Given the description of an element on the screen output the (x, y) to click on. 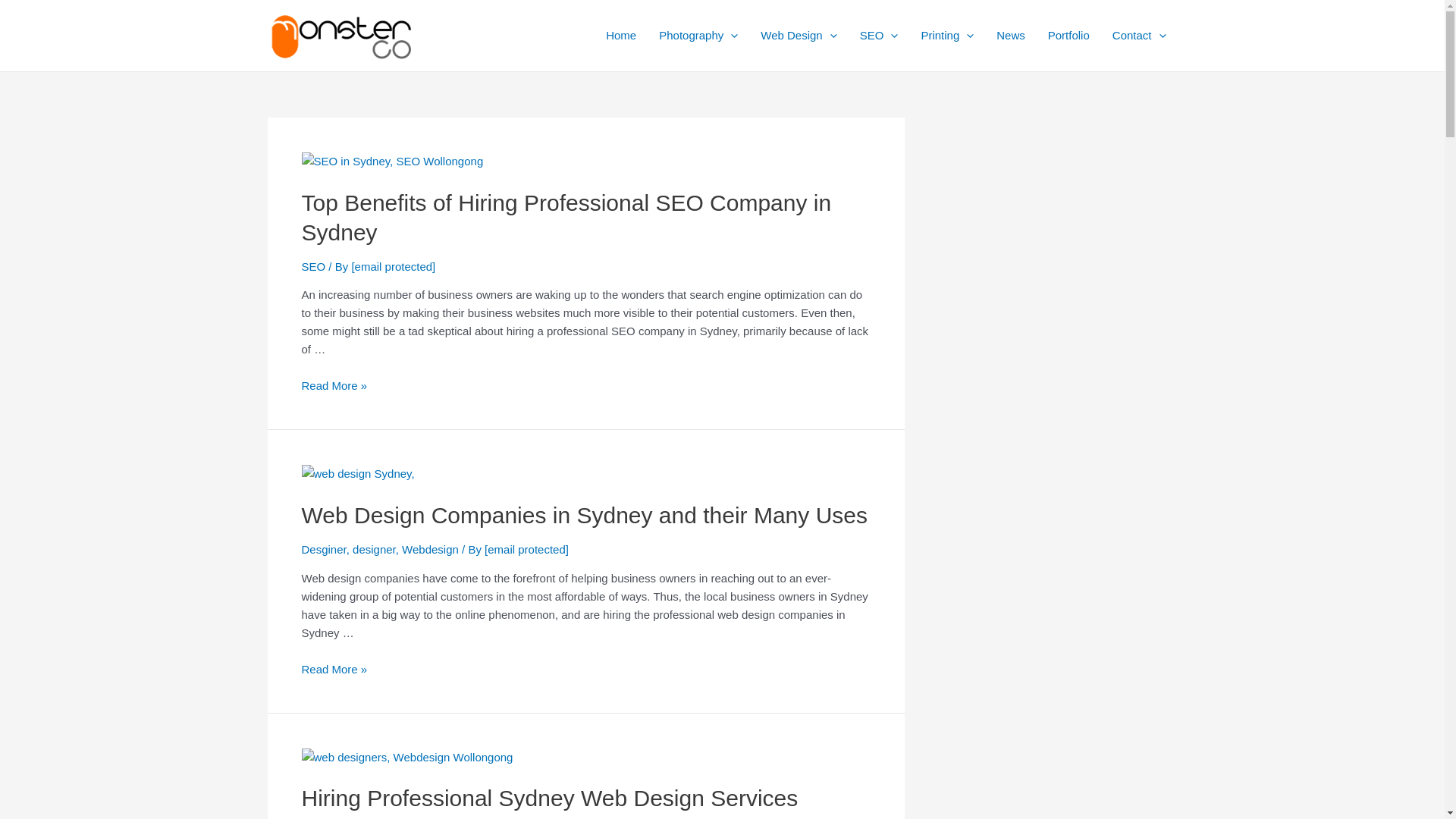
Desginer Element type: text (323, 548)
News Element type: text (1010, 35)
Printing Element type: text (947, 35)
designer Element type: text (373, 548)
Webdesign Element type: text (429, 548)
SEO Element type: text (879, 35)
Web Design Companies in Sydney and their Many Uses Element type: text (584, 514)
Portfolio Element type: text (1068, 35)
Photography Element type: text (698, 35)
Home Element type: text (620, 35)
[email protected] Element type: text (526, 548)
SEO Element type: text (313, 266)
Hiring Professional Sydney Web Design Services Element type: text (549, 797)
Contact Element type: text (1139, 35)
Web Design Element type: text (798, 35)
Top Benefits of Hiring Professional SEO Company in Sydney Element type: text (566, 217)
[email protected] Element type: text (393, 266)
